Given the description of an element on the screen output the (x, y) to click on. 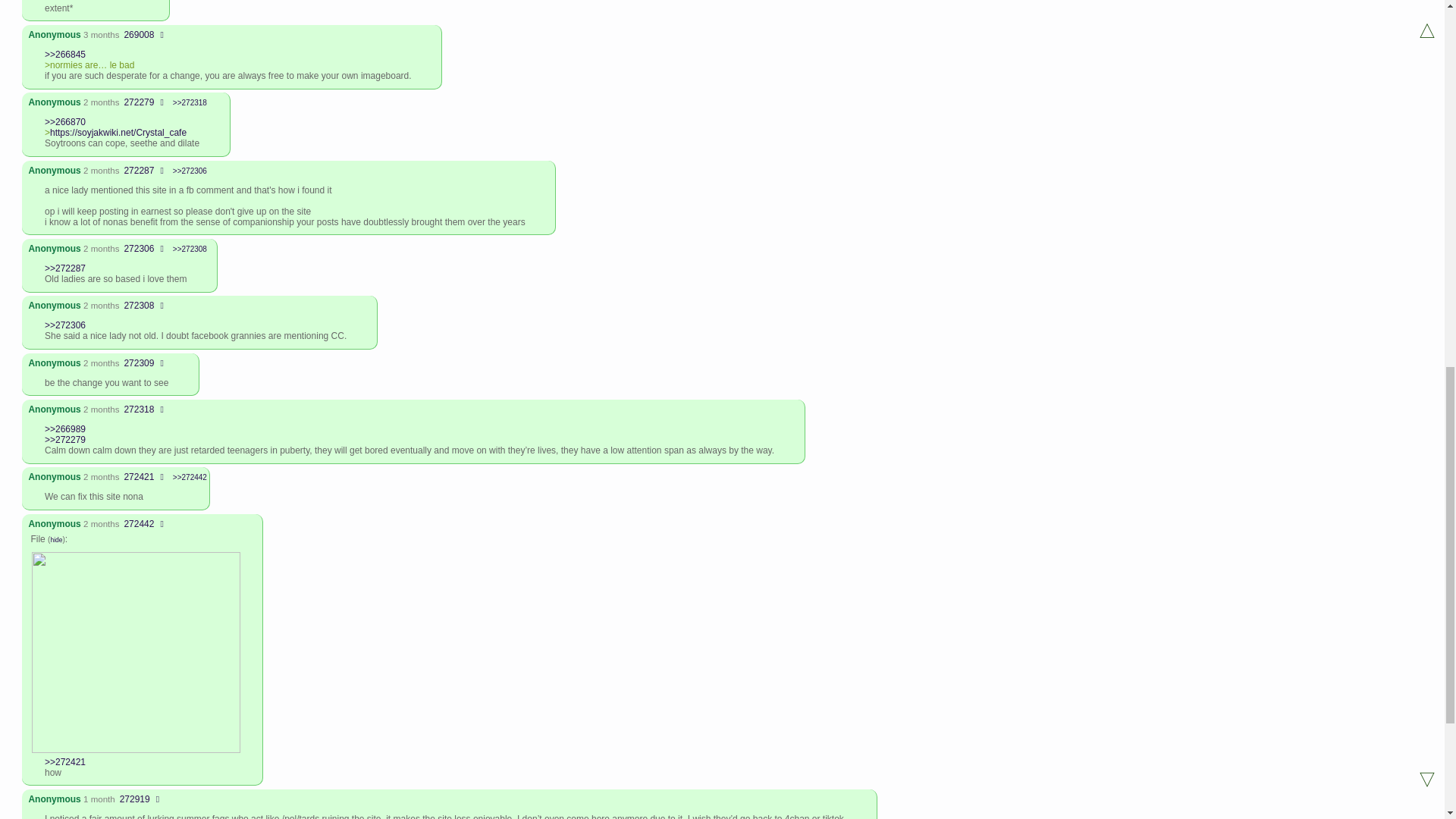
269008 (138, 34)
3 months (100, 34)
